Given the description of an element on the screen output the (x, y) to click on. 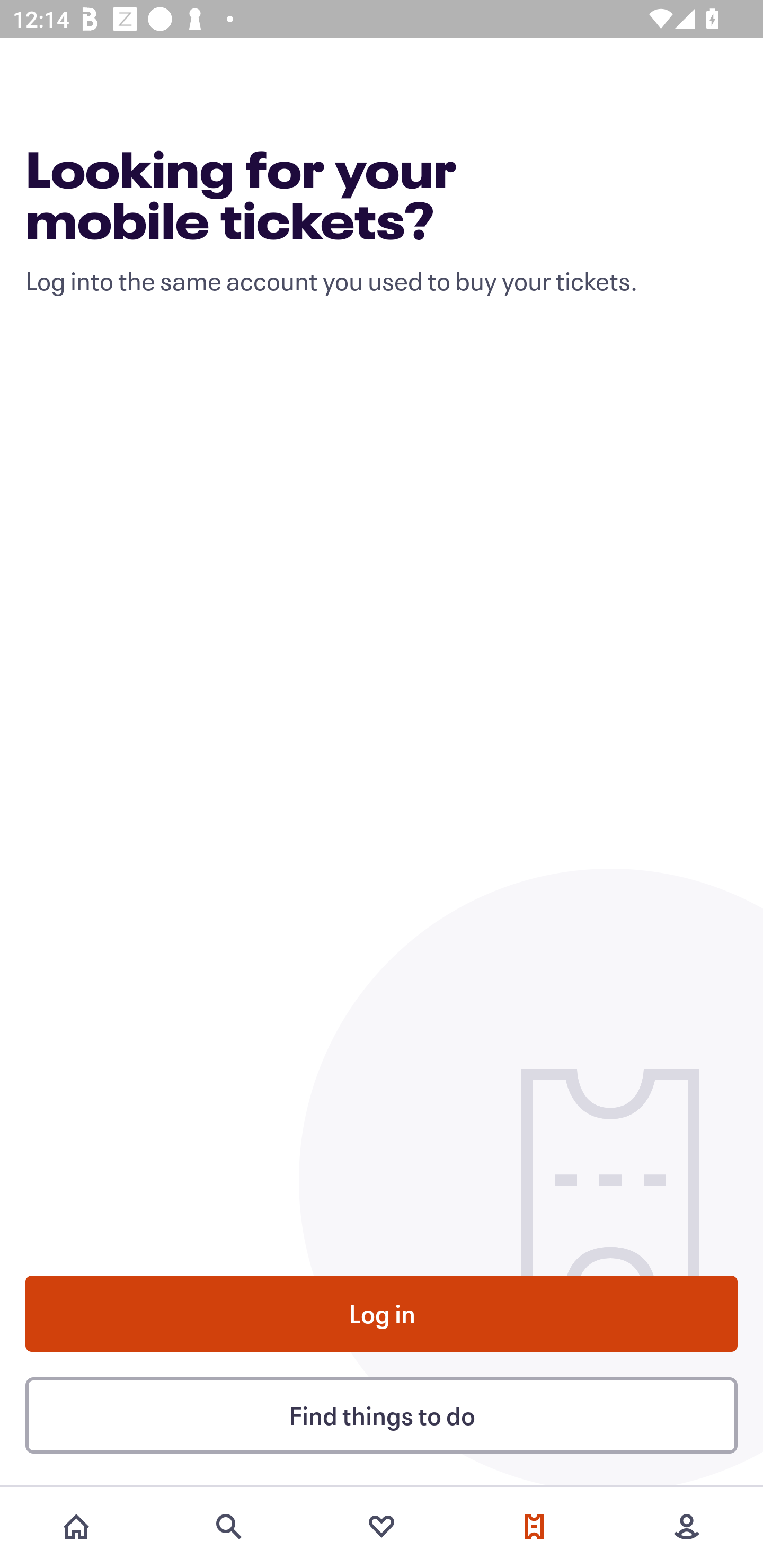
Log in (381, 1313)
Find things to do (381, 1414)
Home (76, 1526)
Search events (228, 1526)
Favorites (381, 1526)
Tickets (533, 1526)
More (686, 1526)
